Given the description of an element on the screen output the (x, y) to click on. 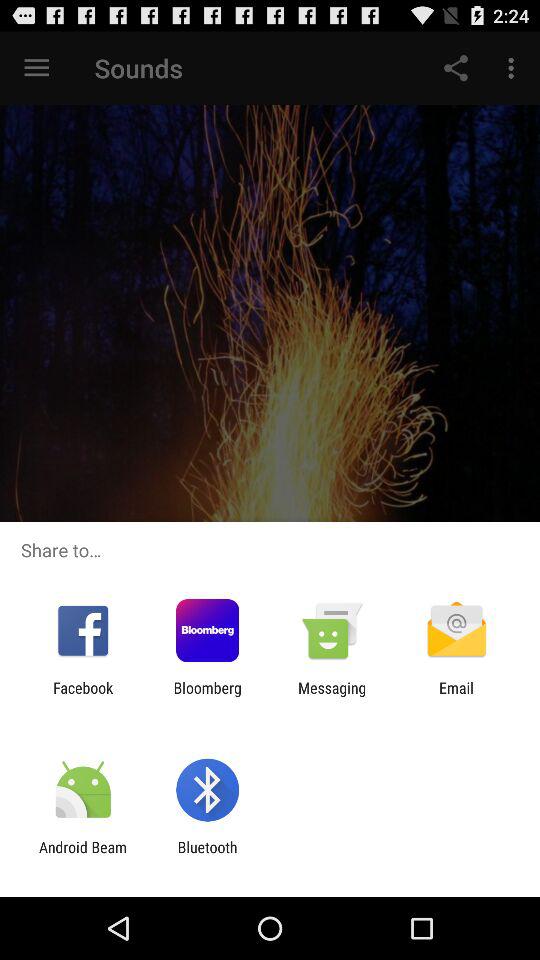
select the android beam (83, 856)
